Given the description of an element on the screen output the (x, y) to click on. 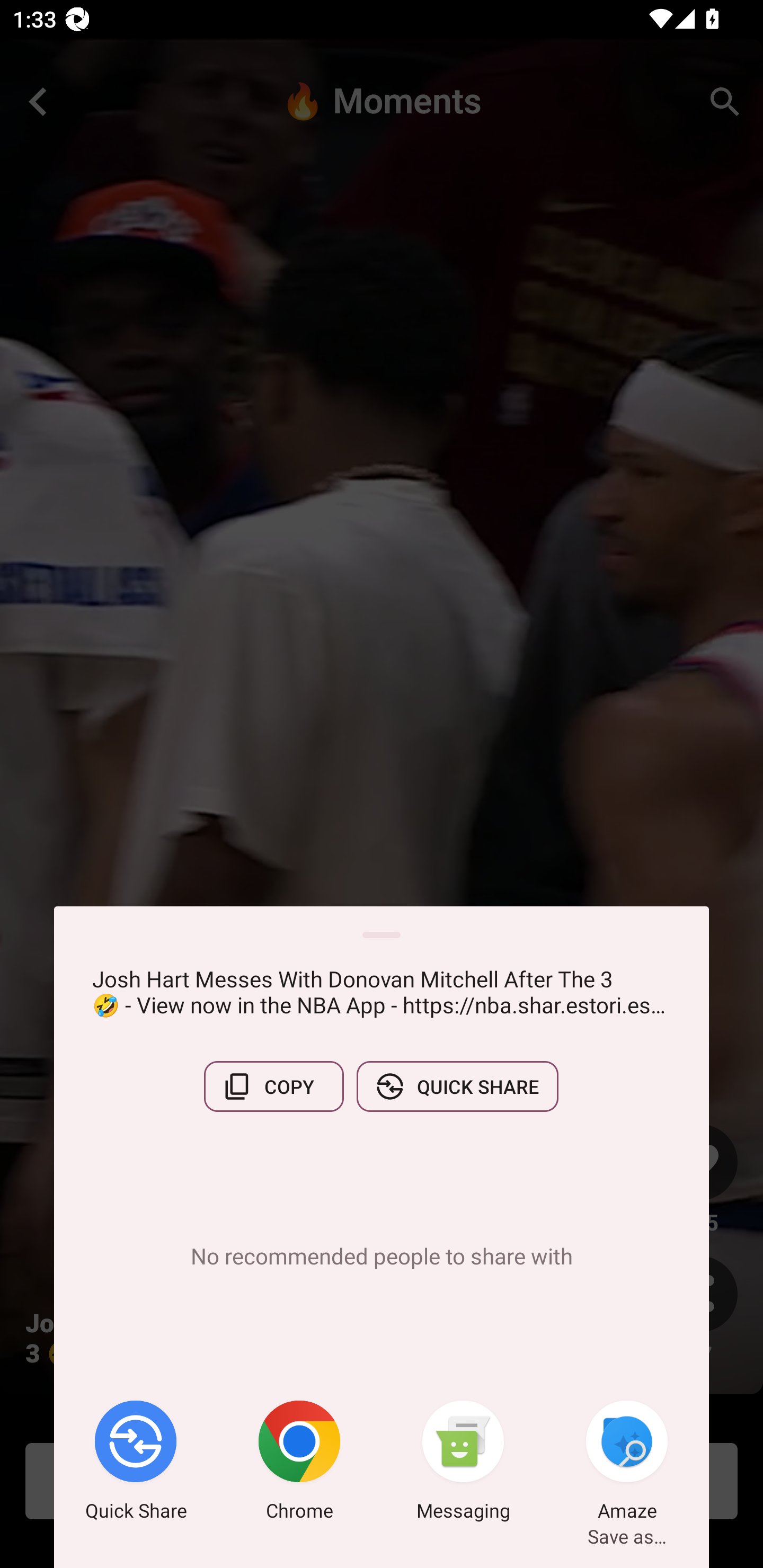
COPY (273, 1086)
QUICK SHARE (457, 1086)
Quick Share (135, 1463)
Chrome (299, 1463)
Messaging (463, 1463)
Amaze Save as… (626, 1463)
